Given the description of an element on the screen output the (x, y) to click on. 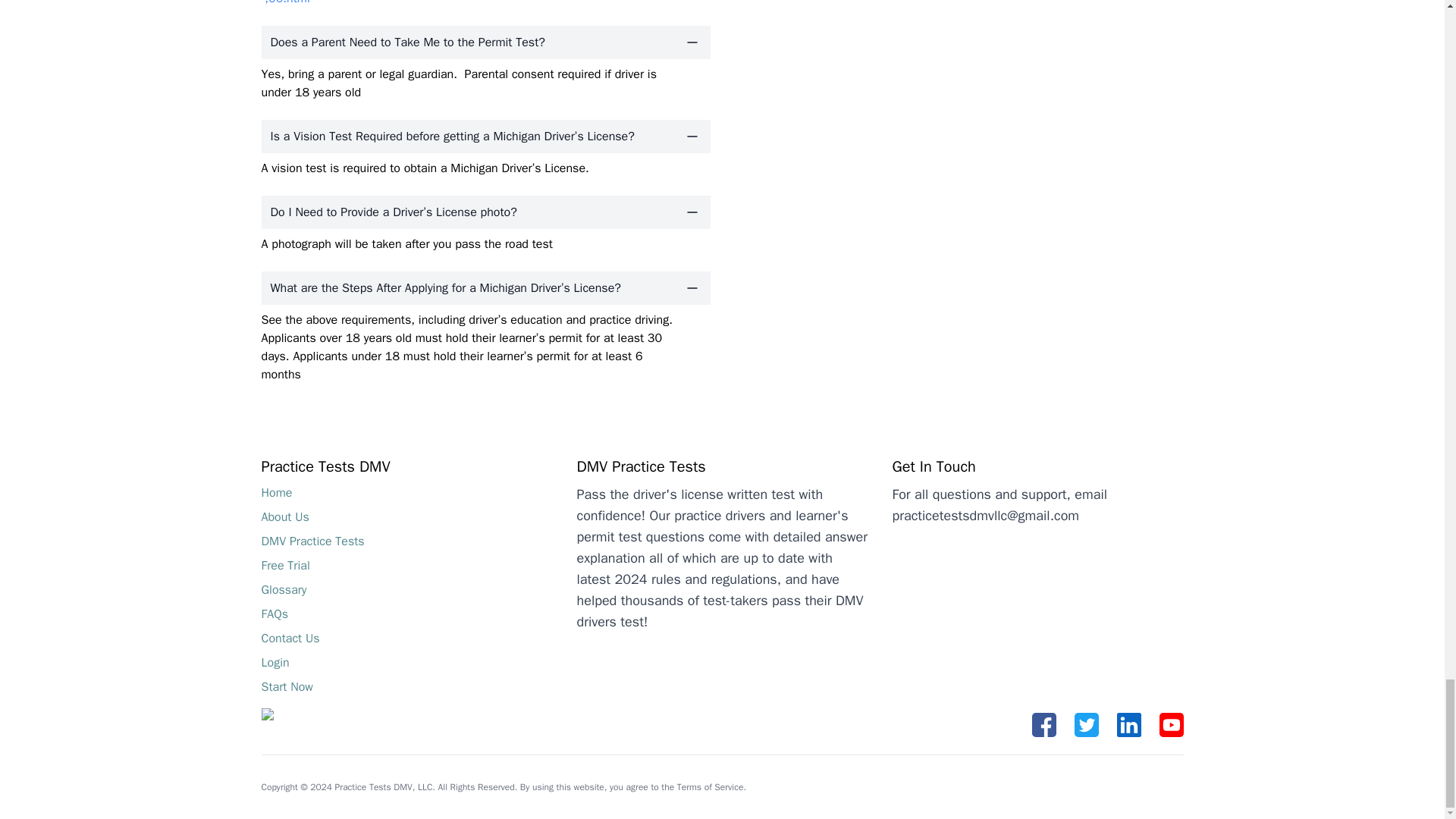
Does a Parent Need to Take Me to the Permit Test? (485, 41)
